Given the description of an element on the screen output the (x, y) to click on. 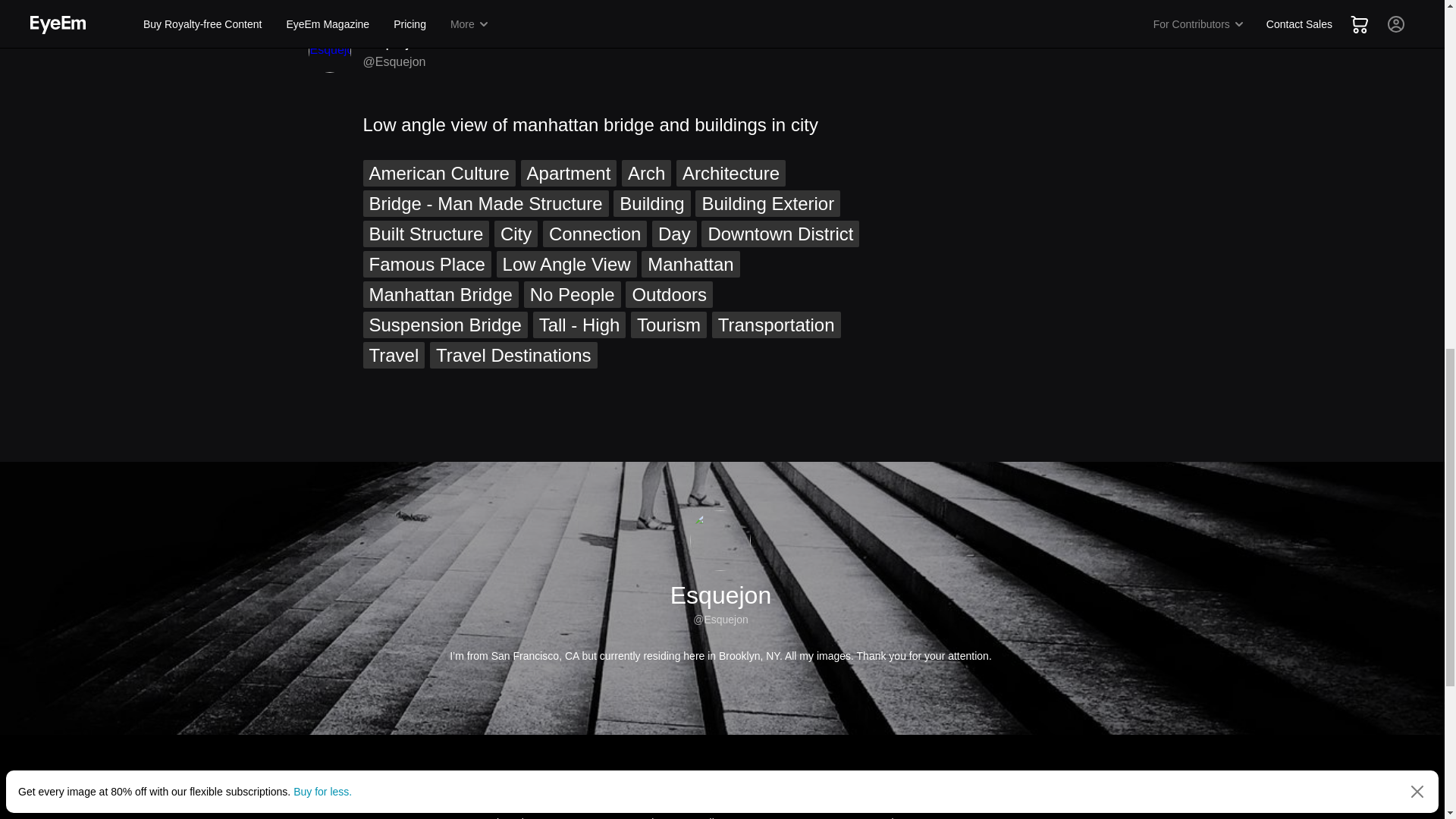
Esquejon (393, 41)
Suspension Bridge (444, 325)
Esquejon (328, 51)
Famous Place (426, 263)
No People (572, 294)
Low Angle View (566, 263)
Arch (646, 172)
Bridge - Man Made Structure (485, 203)
American Culture (438, 172)
City (516, 233)
Apartment (569, 172)
Building Exterior (767, 203)
Day (674, 233)
Built Structure (425, 233)
Architecture (731, 172)
